Given the description of an element on the screen output the (x, y) to click on. 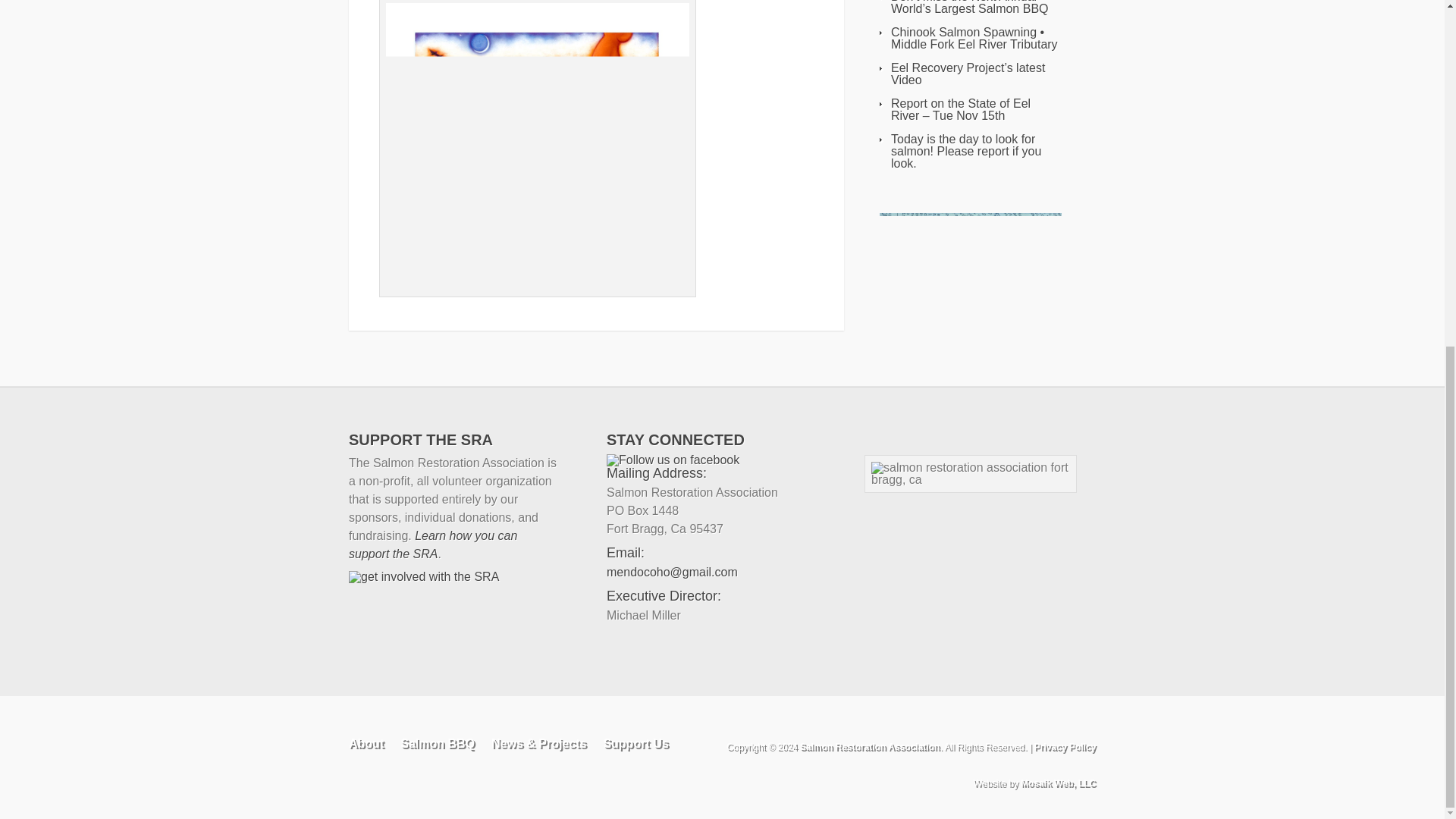
Support Us (635, 743)
Salmon Restoration Association (869, 747)
Learn how you can support the SRA (432, 544)
Mosaik Web, LLC (1058, 783)
Salmon BBQ (437, 743)
About (366, 743)
Privacy Policy (1064, 747)
